Given the description of an element on the screen output the (x, y) to click on. 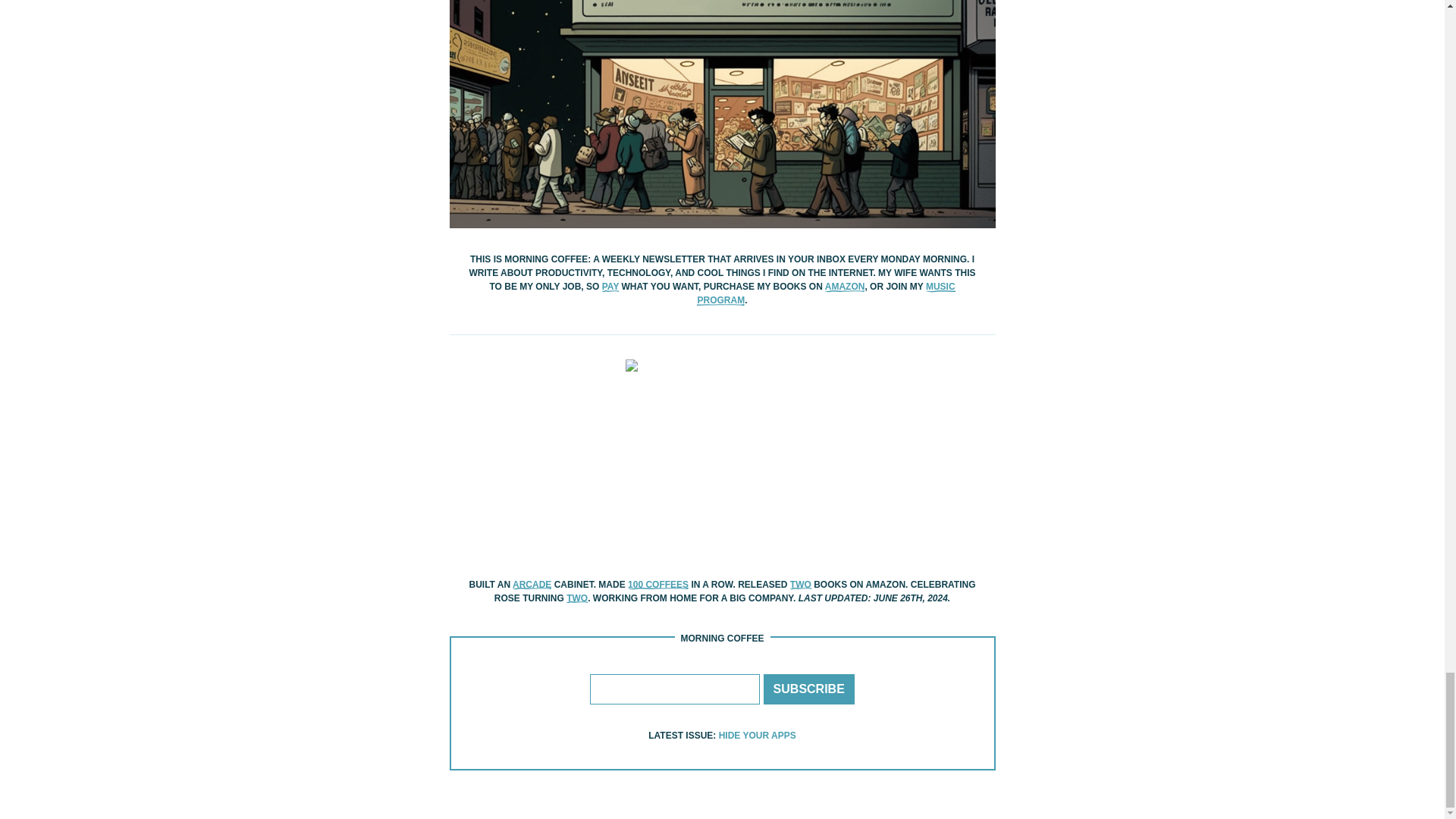
AMAZON (844, 286)
HIDE YOUR APPS (757, 736)
100 COFFEES (657, 584)
MUSIC PROGRAM (826, 293)
Subscribe (808, 689)
ARCADE (531, 584)
PAY (610, 286)
Subscribe (808, 689)
TWO (577, 598)
TWO (800, 584)
